Given the description of an element on the screen output the (x, y) to click on. 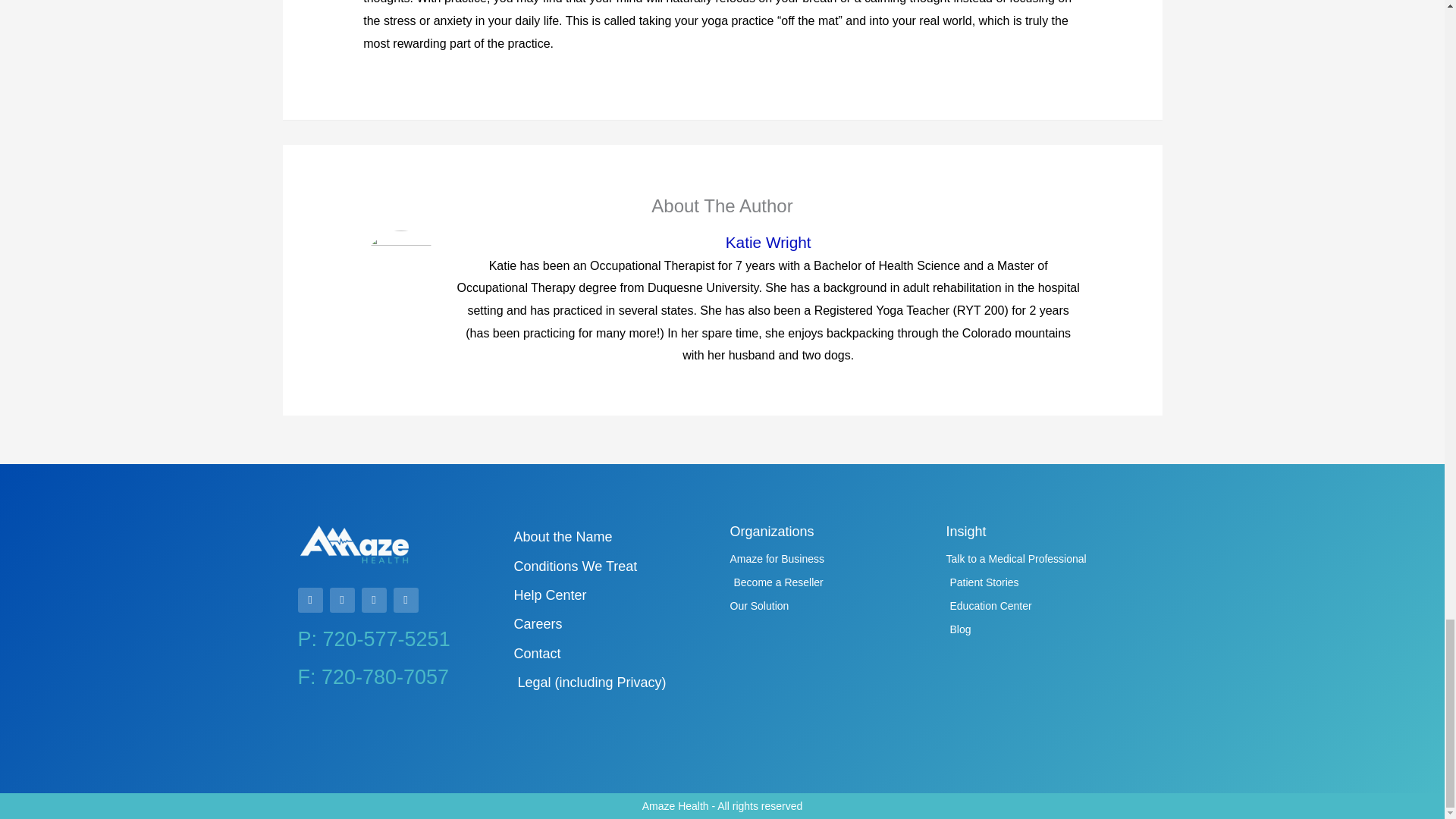
Katie Wright (768, 241)
Our Solution (829, 606)
P: 720-577-5251 (373, 639)
Careers (613, 624)
Amaze for Business (829, 559)
Blog (1046, 629)
Conditions We Treat (613, 566)
About the Name (613, 536)
Insight (966, 531)
Help Center (613, 595)
